Given the description of an element on the screen output the (x, y) to click on. 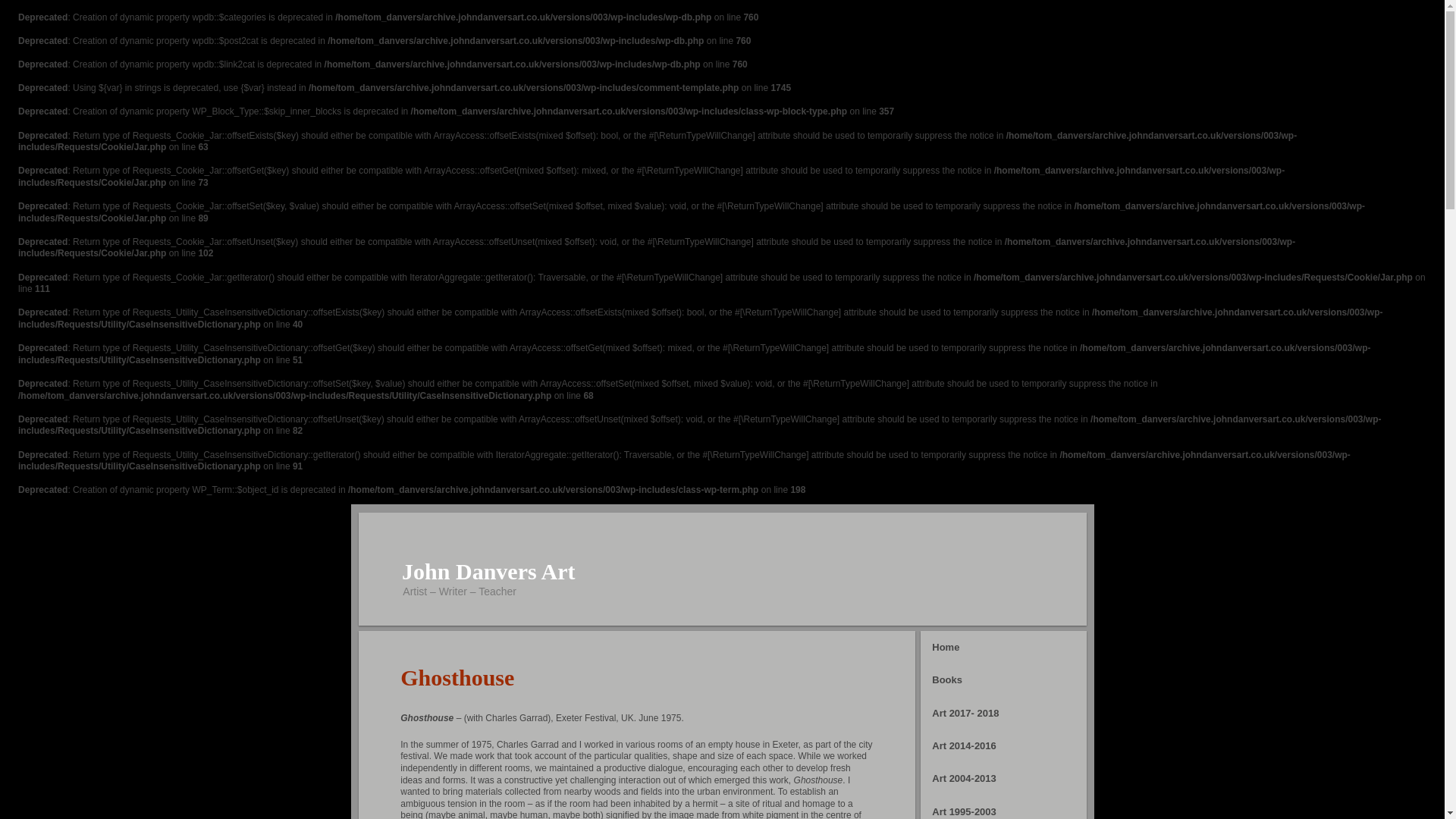
Art 2004-2013 (1003, 778)
Home (1003, 646)
Books (1003, 679)
John Danvers Art (488, 570)
John Danvers Art (488, 570)
Art 2017- 2018 (1003, 712)
Art 2014-2016 (1003, 745)
Art 1995-2003 (1003, 807)
